Given the description of an element on the screen output the (x, y) to click on. 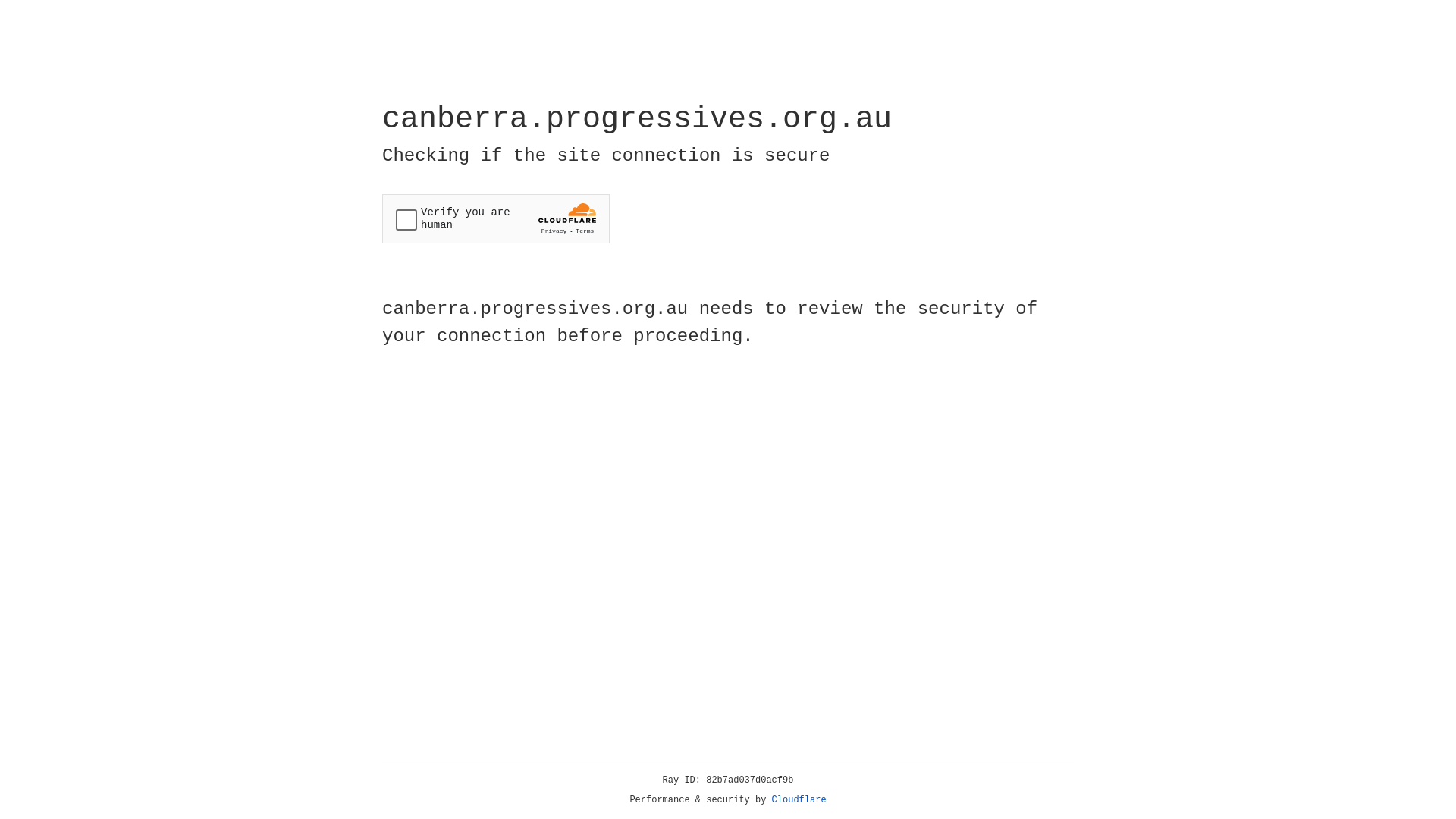
Widget containing a Cloudflare security challenge Element type: hover (495, 218)
Cloudflare Element type: text (798, 799)
